Given the description of an element on the screen output the (x, y) to click on. 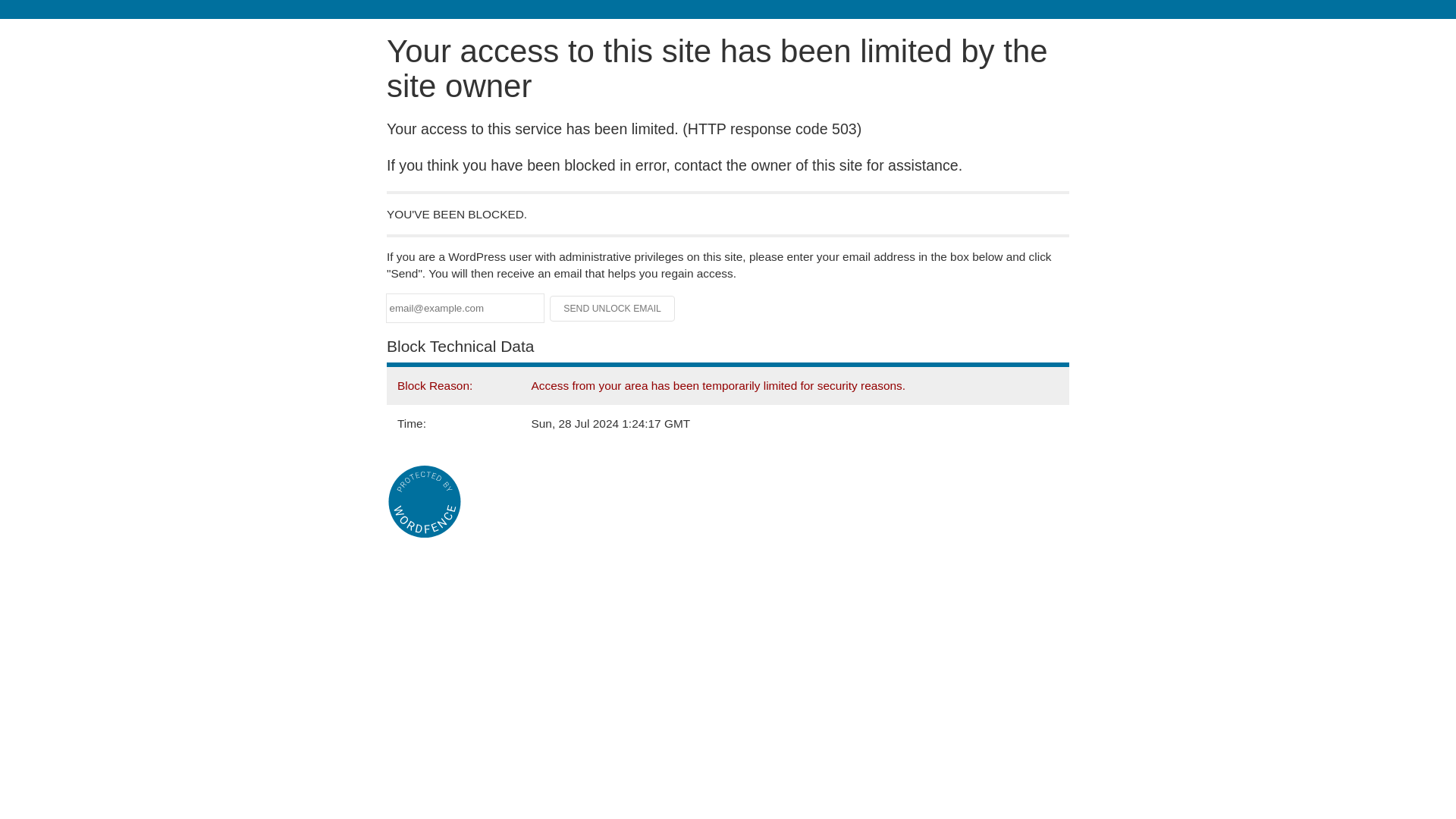
Send Unlock Email (612, 308)
Send Unlock Email (612, 308)
